Given the description of an element on the screen output the (x, y) to click on. 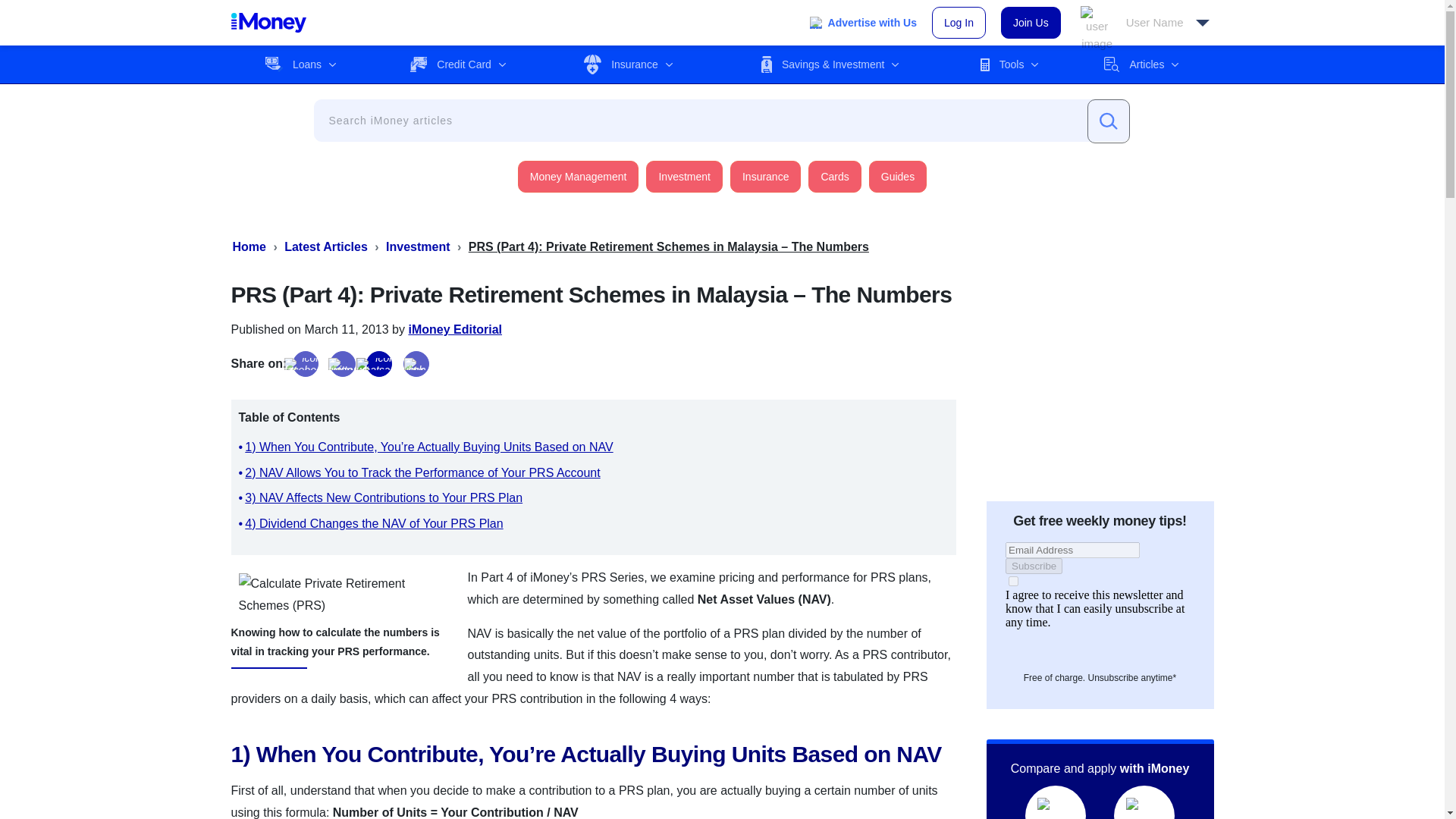
Whatsapp (378, 363)
Advertise with Us (863, 23)
Credit Card (457, 64)
Log In (958, 22)
User Name (1144, 22)
Twitter (342, 363)
Copy Link (416, 363)
Loans (299, 64)
Posts by iMoney Editorial (454, 328)
Facebook (305, 363)
